Given the description of an element on the screen output the (x, y) to click on. 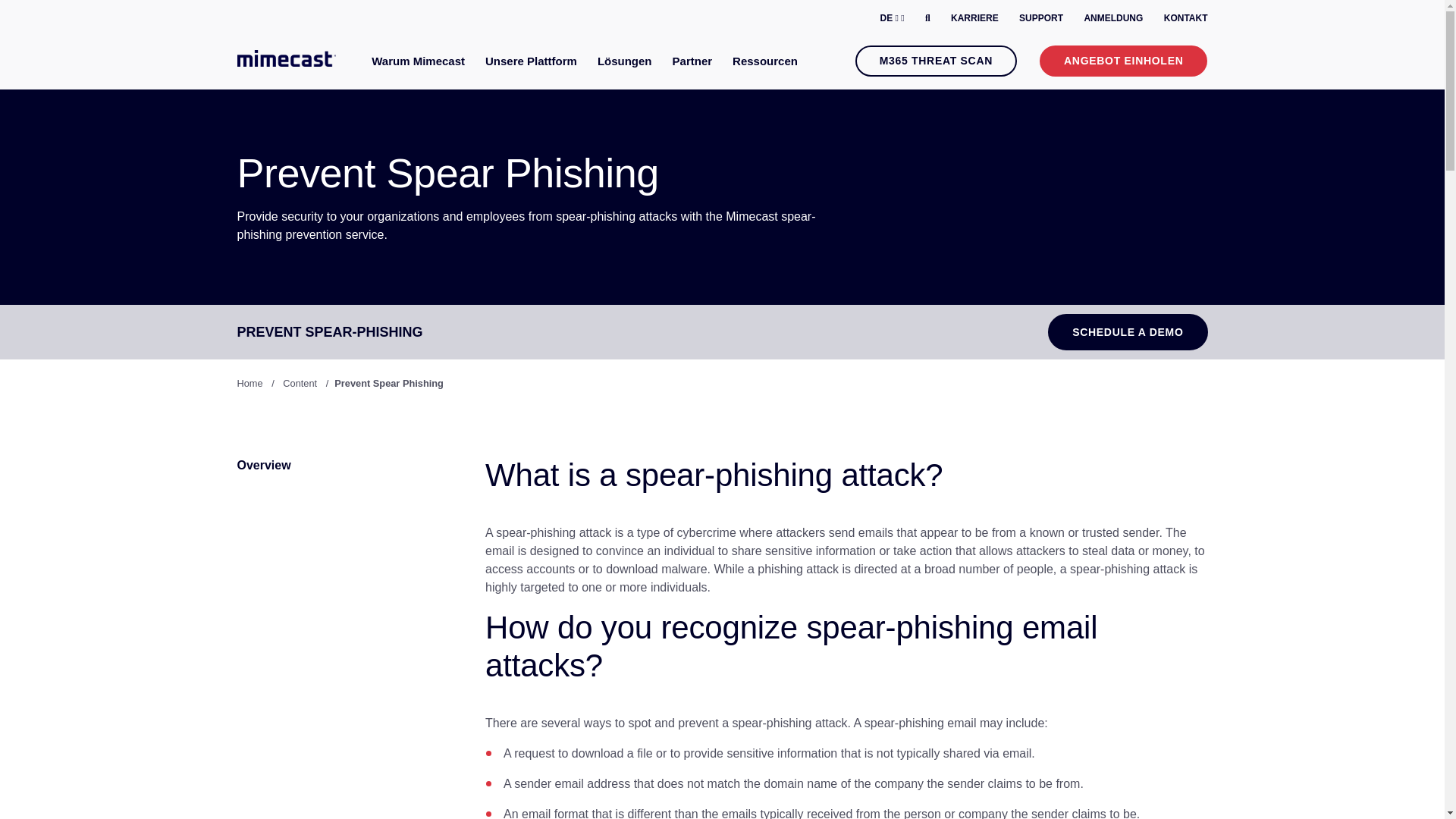
KARRIERE (974, 18)
ANMELDUNG (1112, 18)
SUPPORT (1040, 18)
KONTAKT (1185, 18)
